Given the description of an element on the screen output the (x, y) to click on. 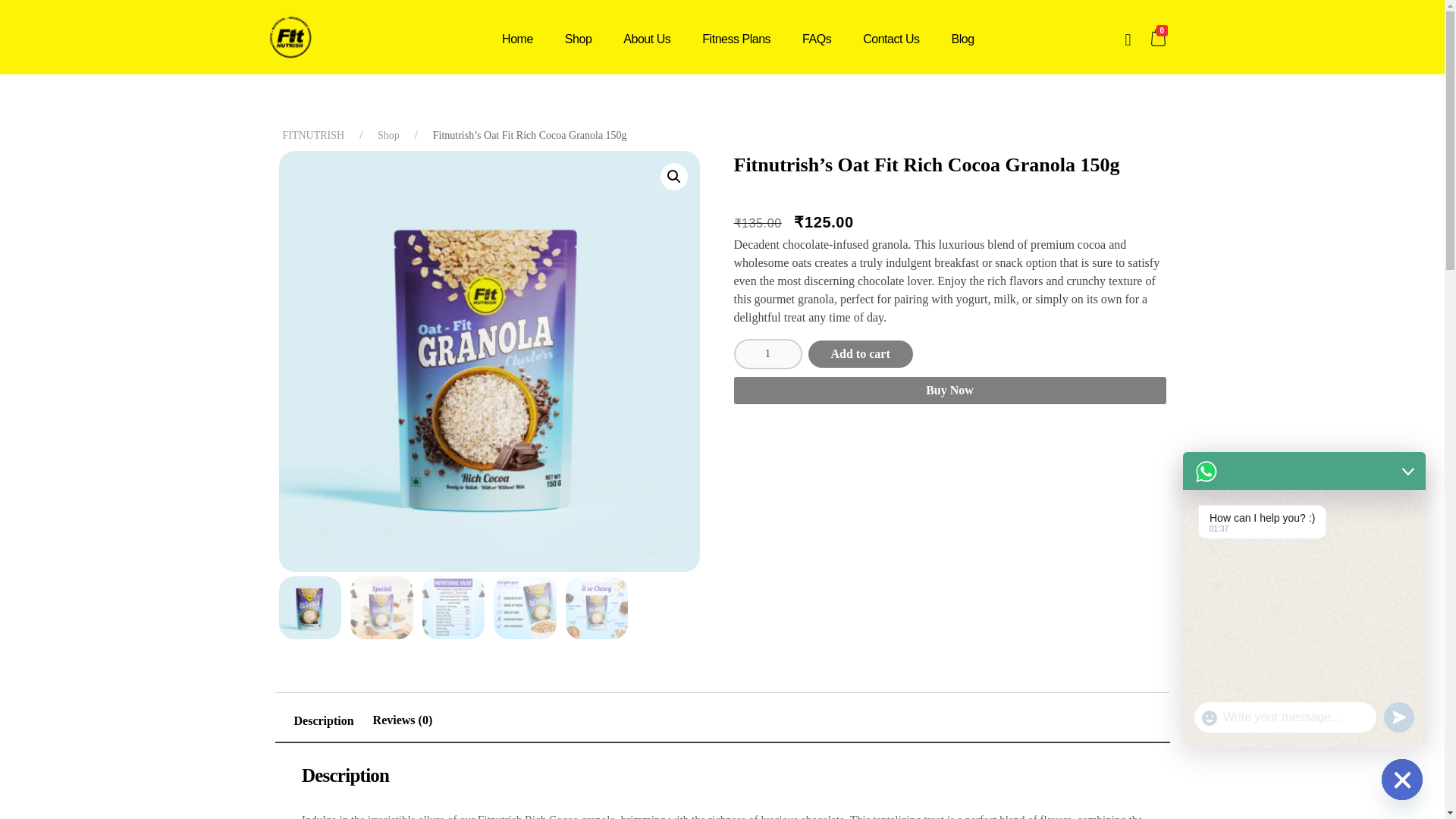
Add to cart (860, 353)
Shop (577, 38)
Shop (387, 135)
1 (767, 354)
Home (525, 38)
Blog (955, 38)
Description (322, 720)
Contact Us (890, 38)
View your shopping cart (1160, 36)
Fitness Plans (735, 38)
About Us (646, 38)
FITNUTRISH (312, 135)
Buy Now (949, 390)
FAQs (816, 38)
